Given the description of an element on the screen output the (x, y) to click on. 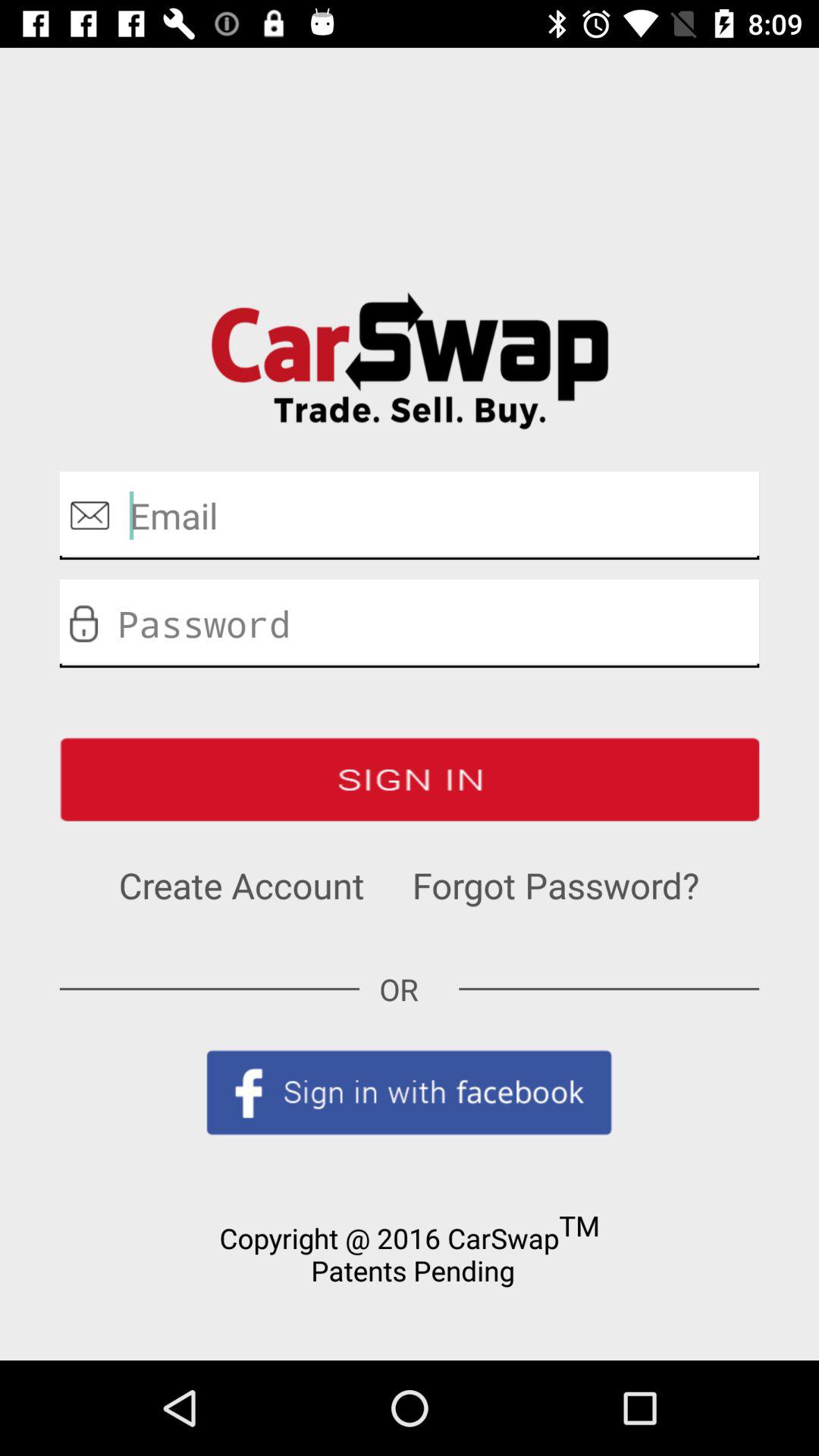
this is the text box where we enter the security password for login (409, 623)
